Given the description of an element on the screen output the (x, y) to click on. 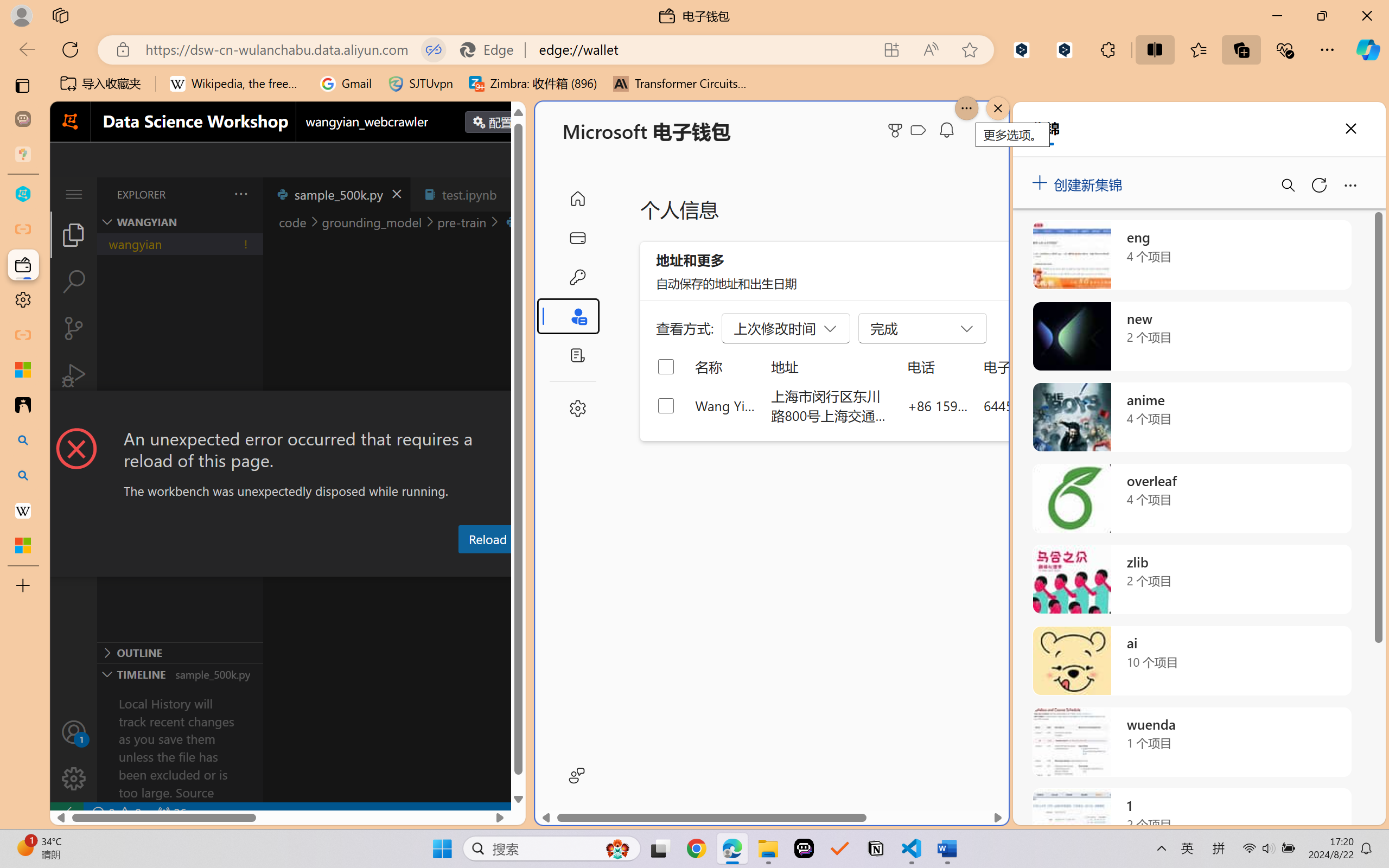
Views and More Actions... (240, 193)
Gmail (345, 83)
Timeline Section (179, 673)
Transformer Circuits Thread (680, 83)
Close (Ctrl+F4) (512, 194)
Reload (486, 538)
Microsoft Rewards (896, 129)
